Given the description of an element on the screen output the (x, y) to click on. 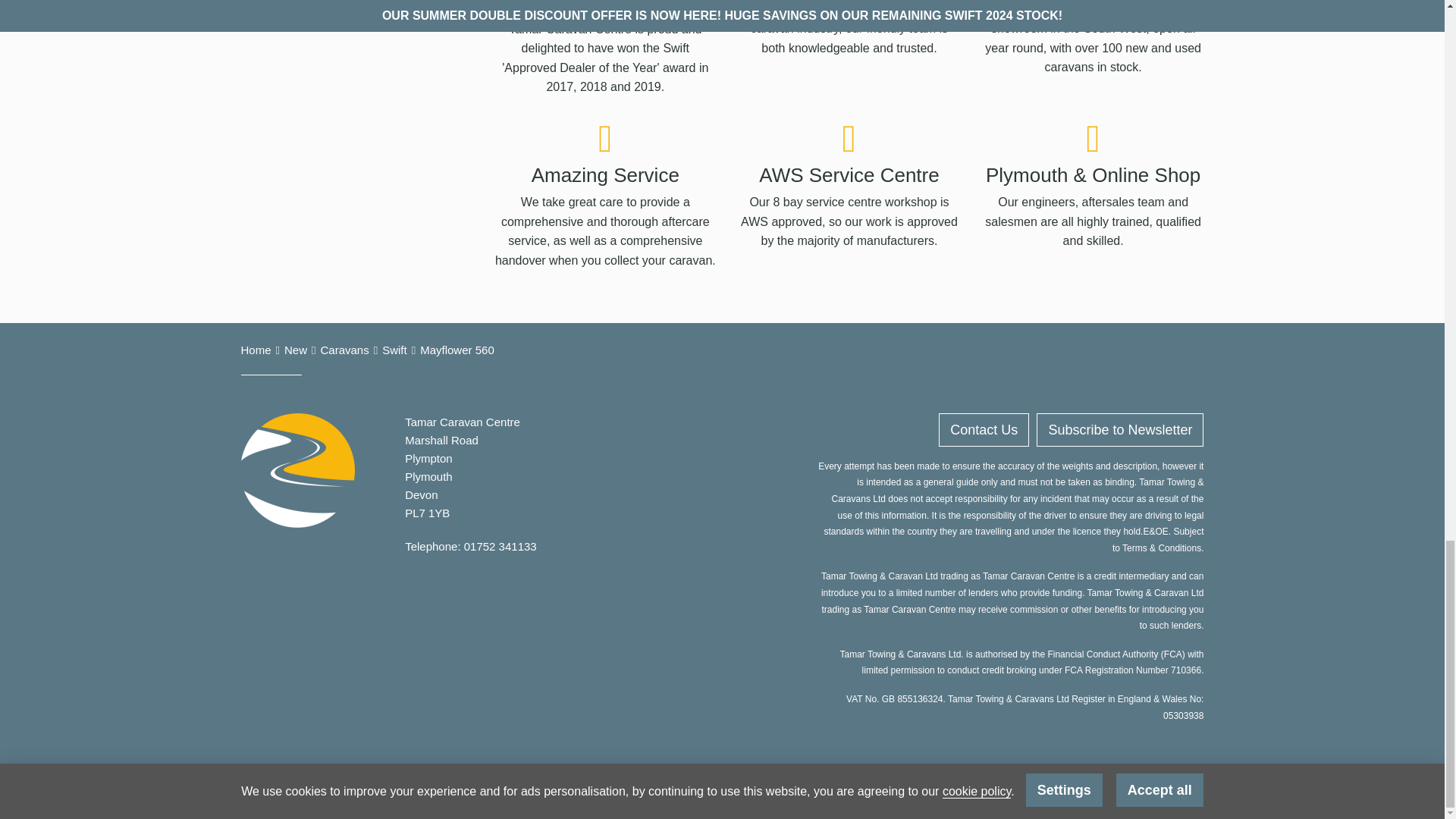
67 Degrees (685, 784)
